Given the description of an element on the screen output the (x, y) to click on. 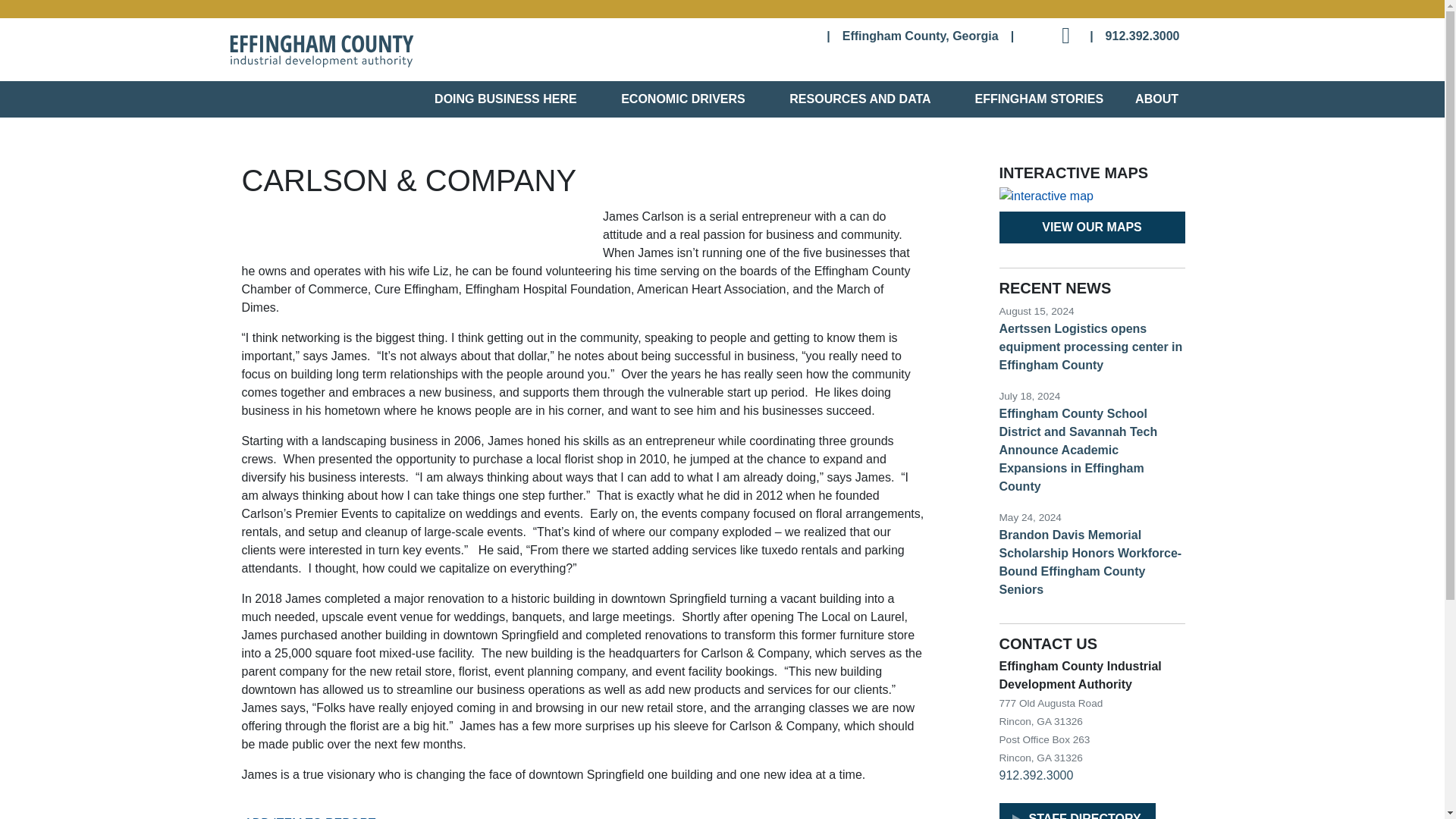
912.392.3000 (1142, 36)
 ADD ITEM TO REPORT (308, 817)
Effingham County, Georgia (920, 36)
ECONOMIC DRIVERS (686, 99)
RESOURCES AND DATA (862, 99)
email (1063, 31)
VIEW OUR MAPS (1091, 227)
